Given the description of an element on the screen output the (x, y) to click on. 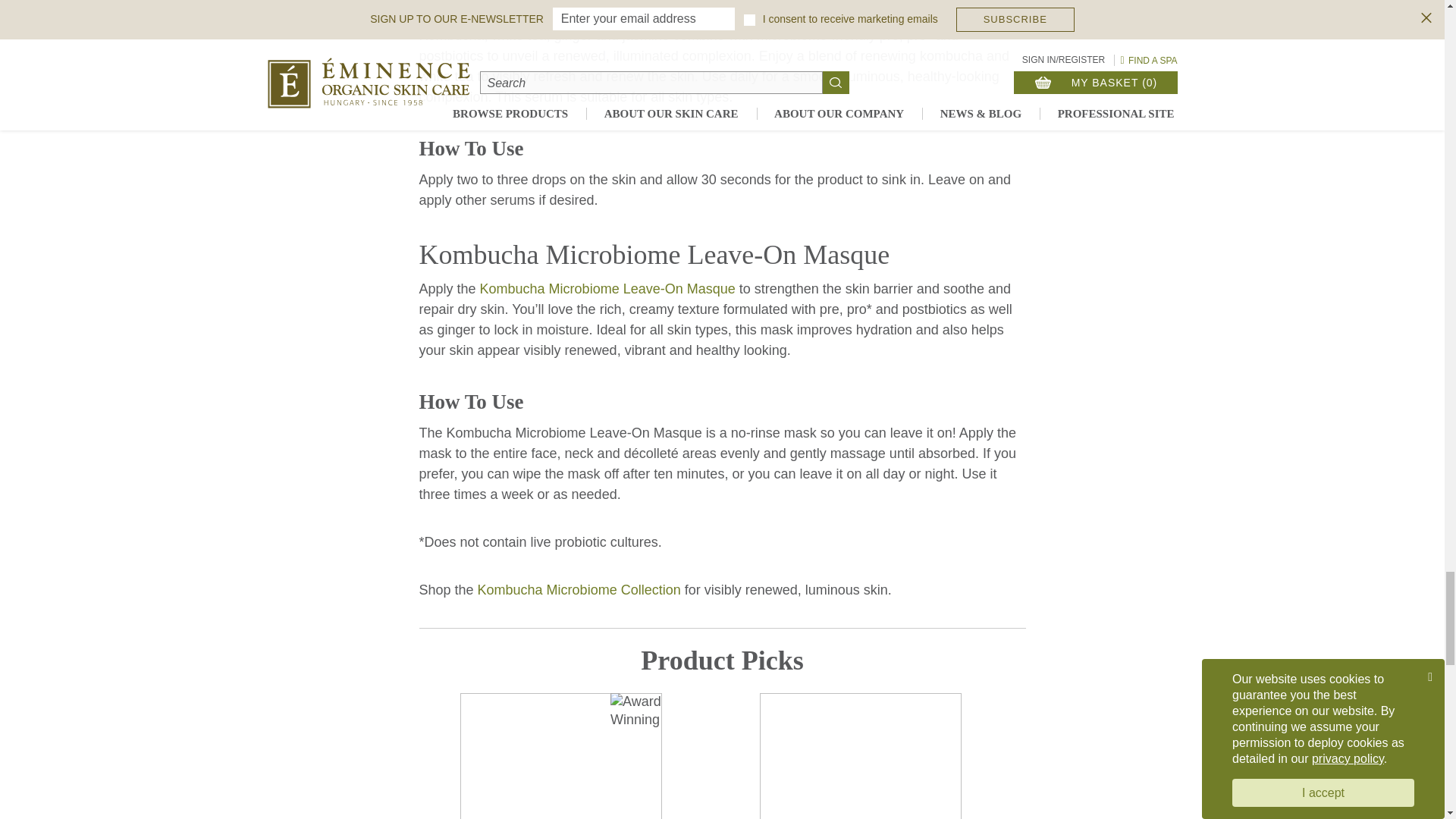
Award Winning (636, 710)
